Given the description of an element on the screen output the (x, y) to click on. 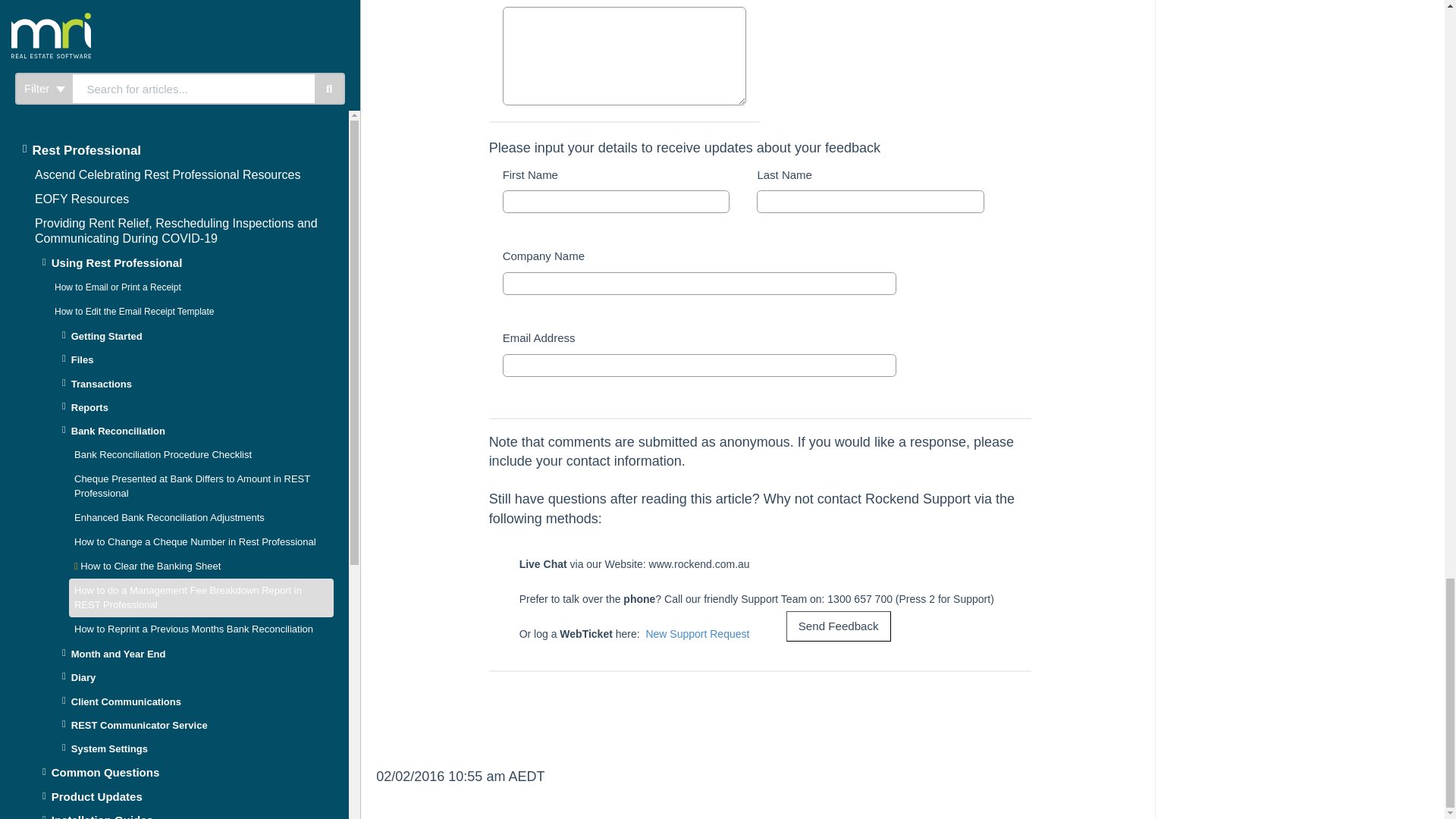
First Name (616, 201)
Last Name (870, 201)
Email Address (699, 364)
Send Feedback (838, 626)
Company Name (699, 282)
